Given the description of an element on the screen output the (x, y) to click on. 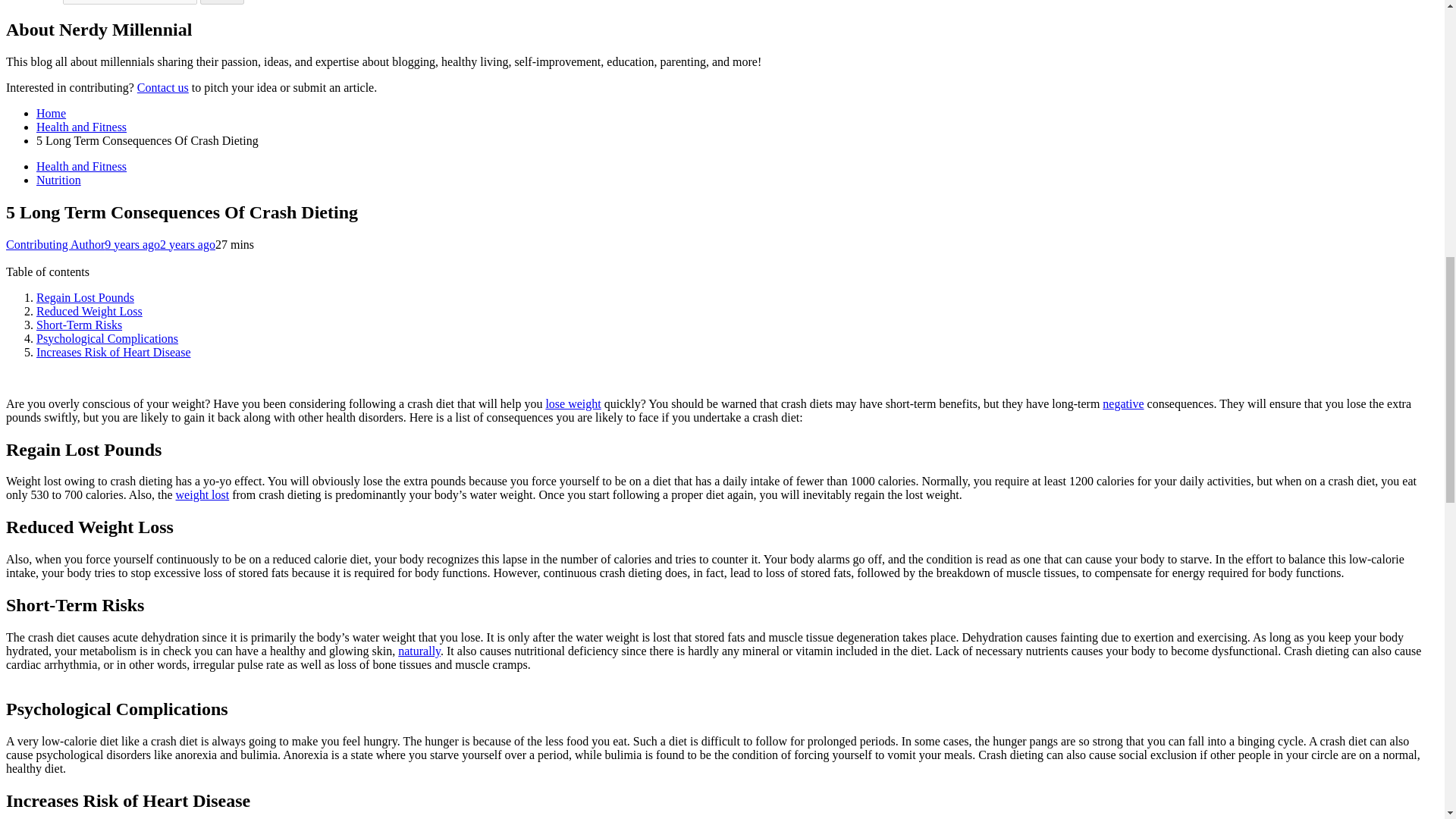
Search (222, 2)
how I lost 80 lbs on the keto diet and why I quit (571, 403)
3 Tips for Escaping a Negative Loop (1122, 403)
Reduced Weight Loss (89, 310)
Psychological Complications (106, 338)
Increases Risk of Heart Disease (113, 351)
Short-Term Risks (79, 324)
Regain Lost Pounds (84, 297)
Search (222, 2)
